Given the description of an element on the screen output the (x, y) to click on. 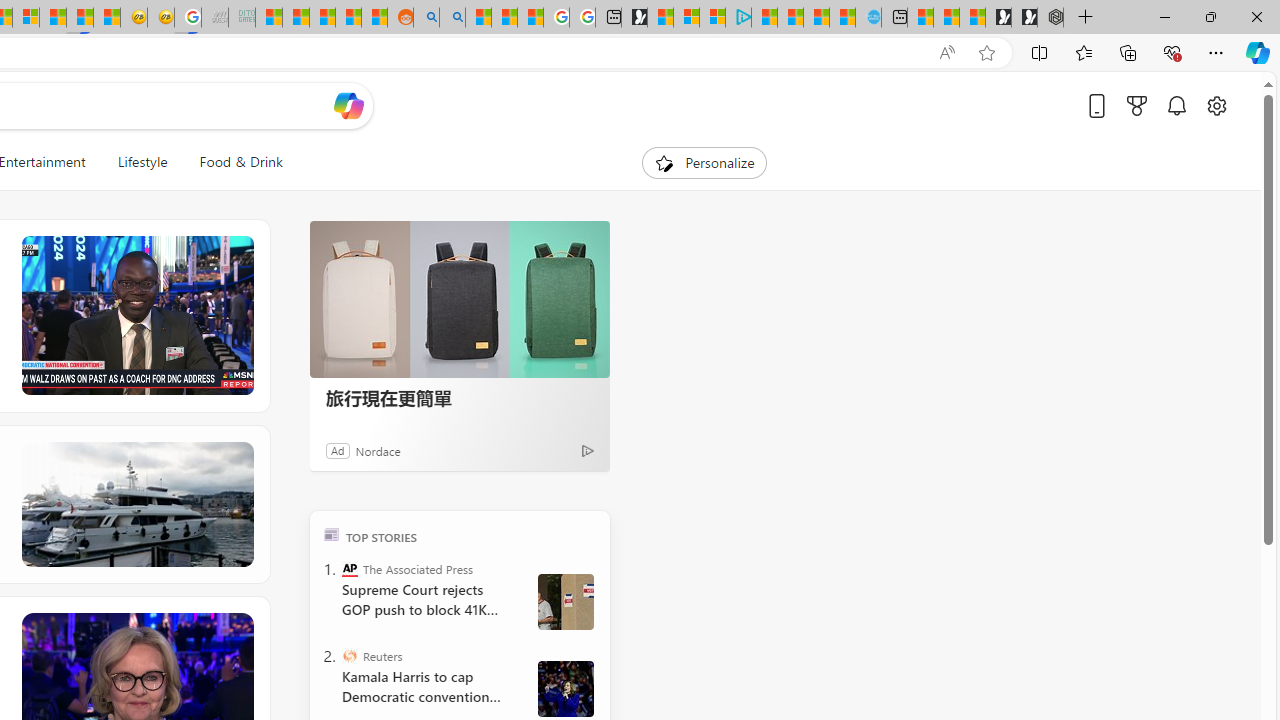
The Associated Press (349, 568)
TOP (331, 534)
Reuters (349, 655)
